Given the description of an element on the screen output the (x, y) to click on. 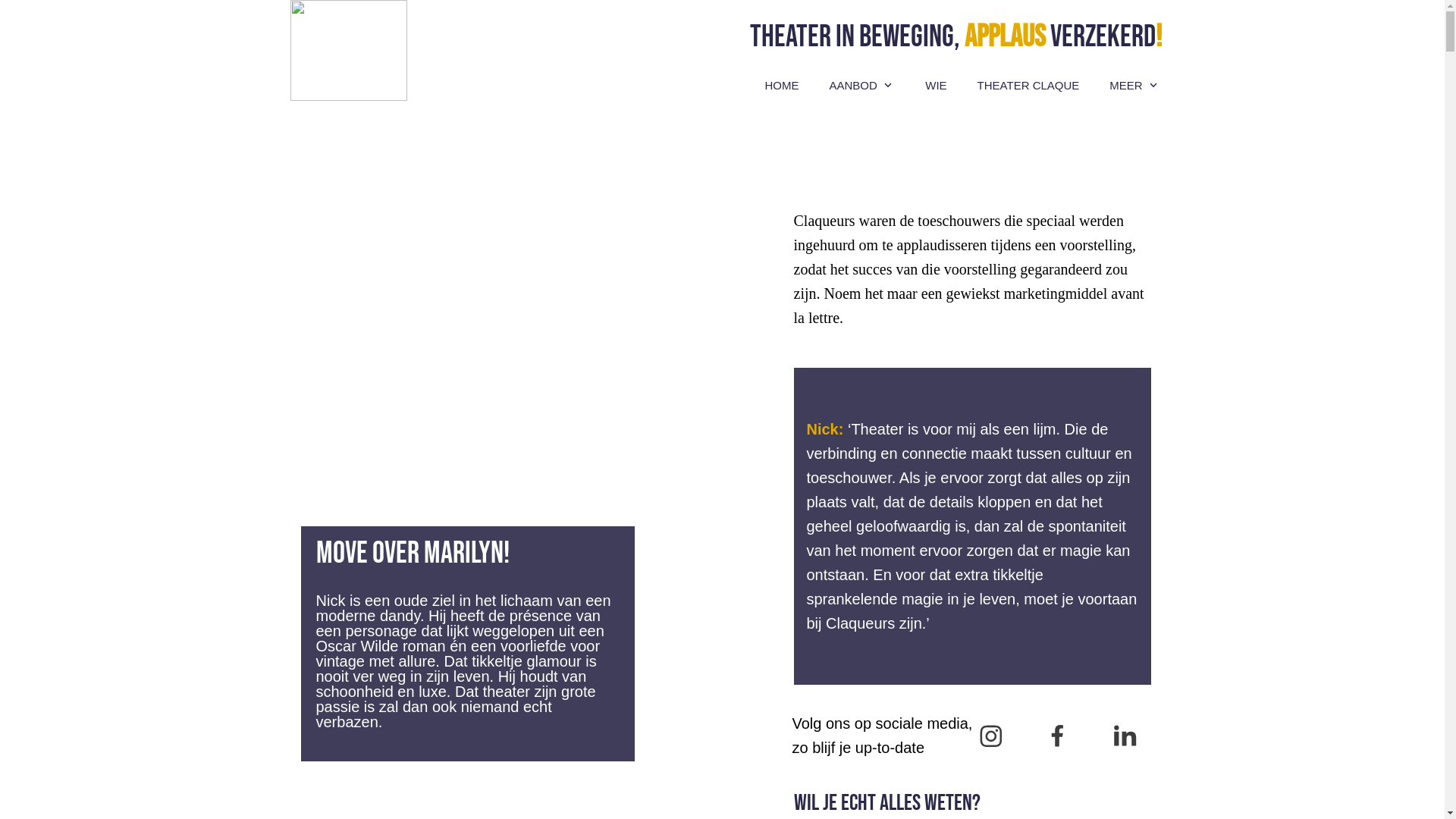
MEER Element type: text (1134, 85)
AANBOD Element type: text (862, 85)
  Element type: text (516, 215)
WIE Element type: text (935, 85)
HOME Element type: text (781, 85)
THEATER CLAQUE Element type: text (1028, 85)
